Given the description of an element on the screen output the (x, y) to click on. 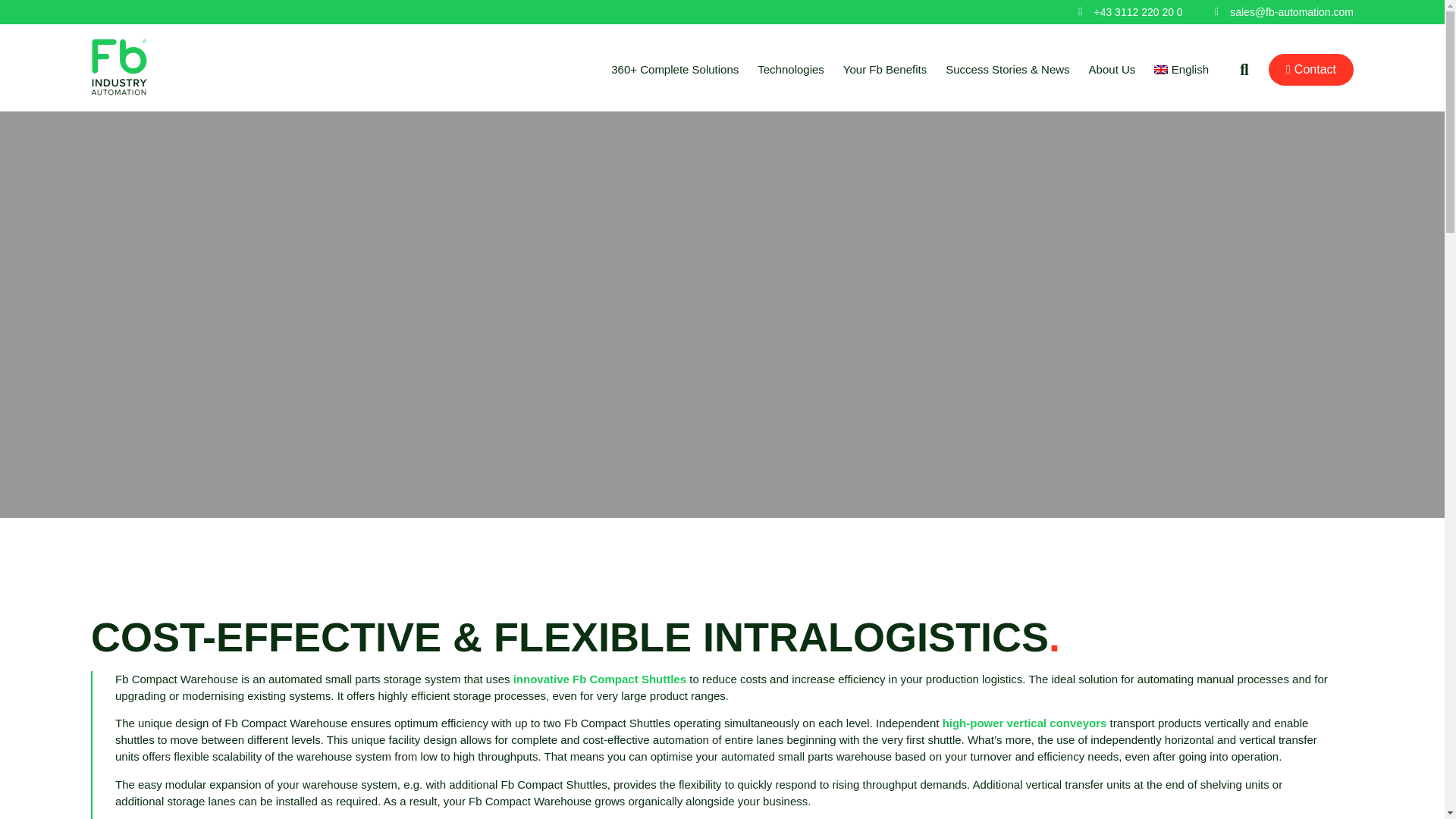
English (1181, 69)
English (1181, 69)
About Us (1112, 69)
Your Fb Benefits (884, 69)
Technologies (790, 69)
